Given the description of an element on the screen output the (x, y) to click on. 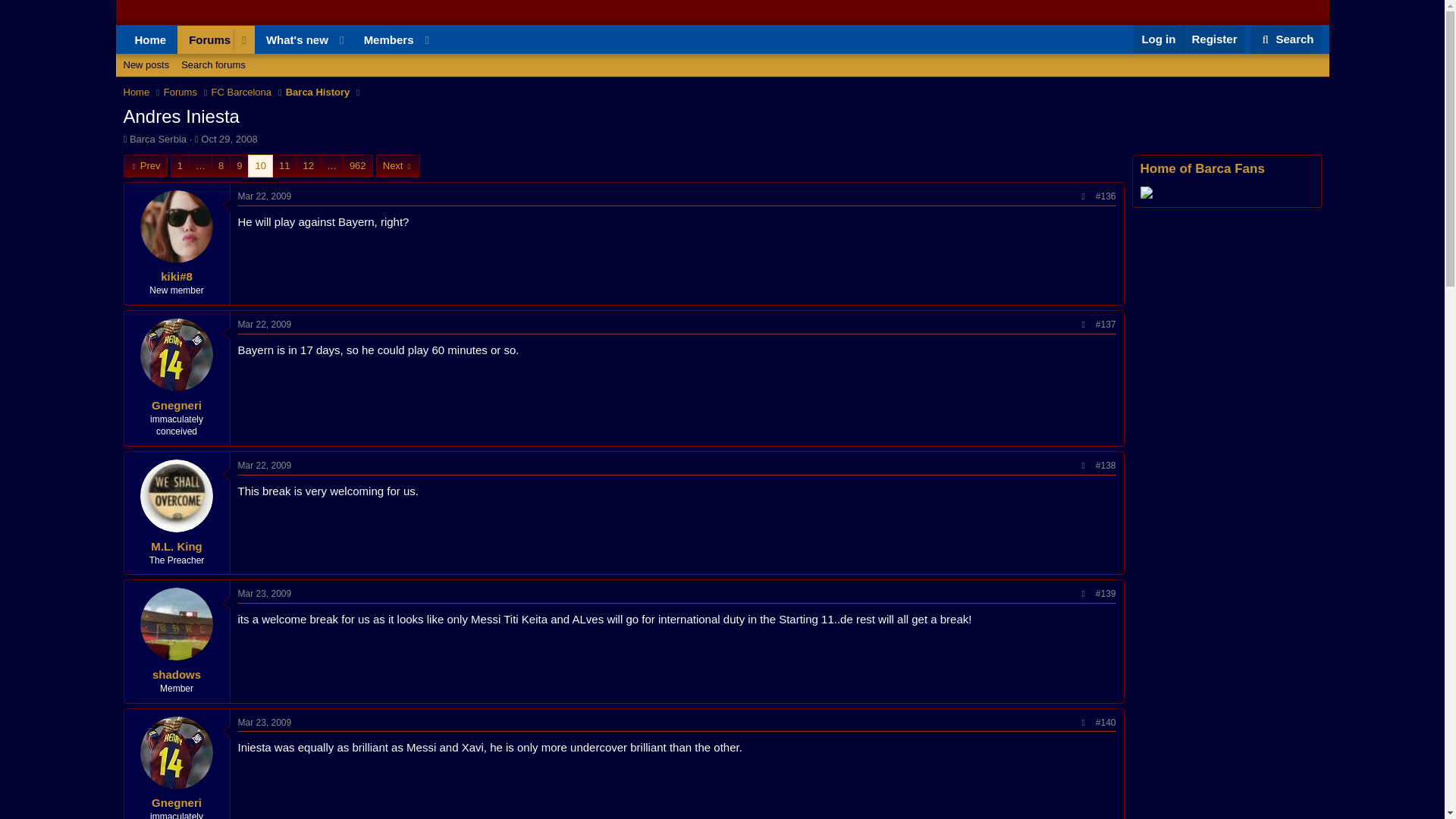
What's new (292, 39)
Home (135, 92)
Mar 22, 2009 at 8:21 PM (280, 56)
Mar 22, 2009 at 8:37 PM (265, 324)
New posts (265, 465)
Log in (721, 82)
Barca History (145, 65)
